Given the description of an element on the screen output the (x, y) to click on. 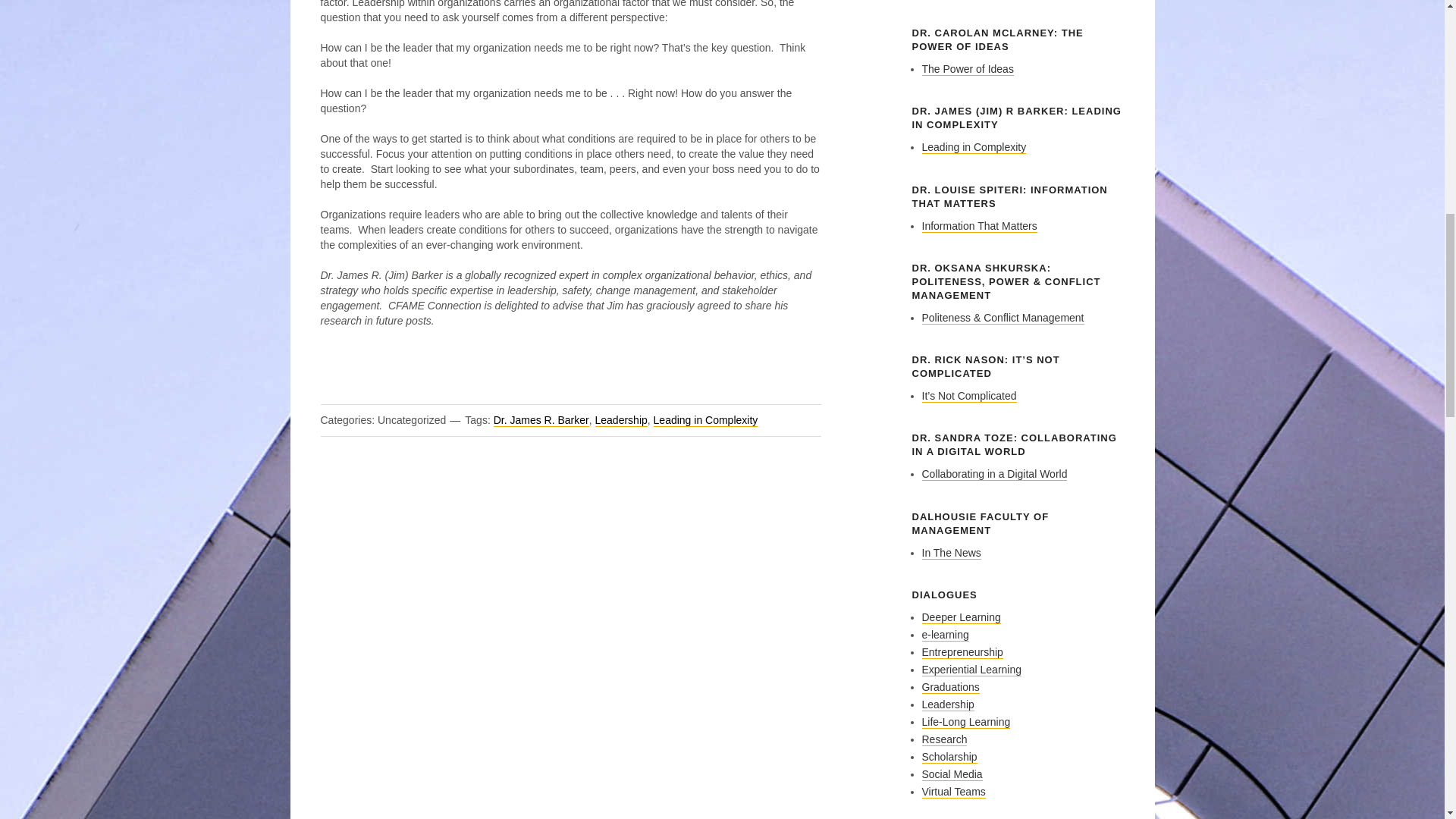
Leading in Complexity (705, 420)
Dr. James R. Barker (541, 420)
Leadership (620, 420)
